Given the description of an element on the screen output the (x, y) to click on. 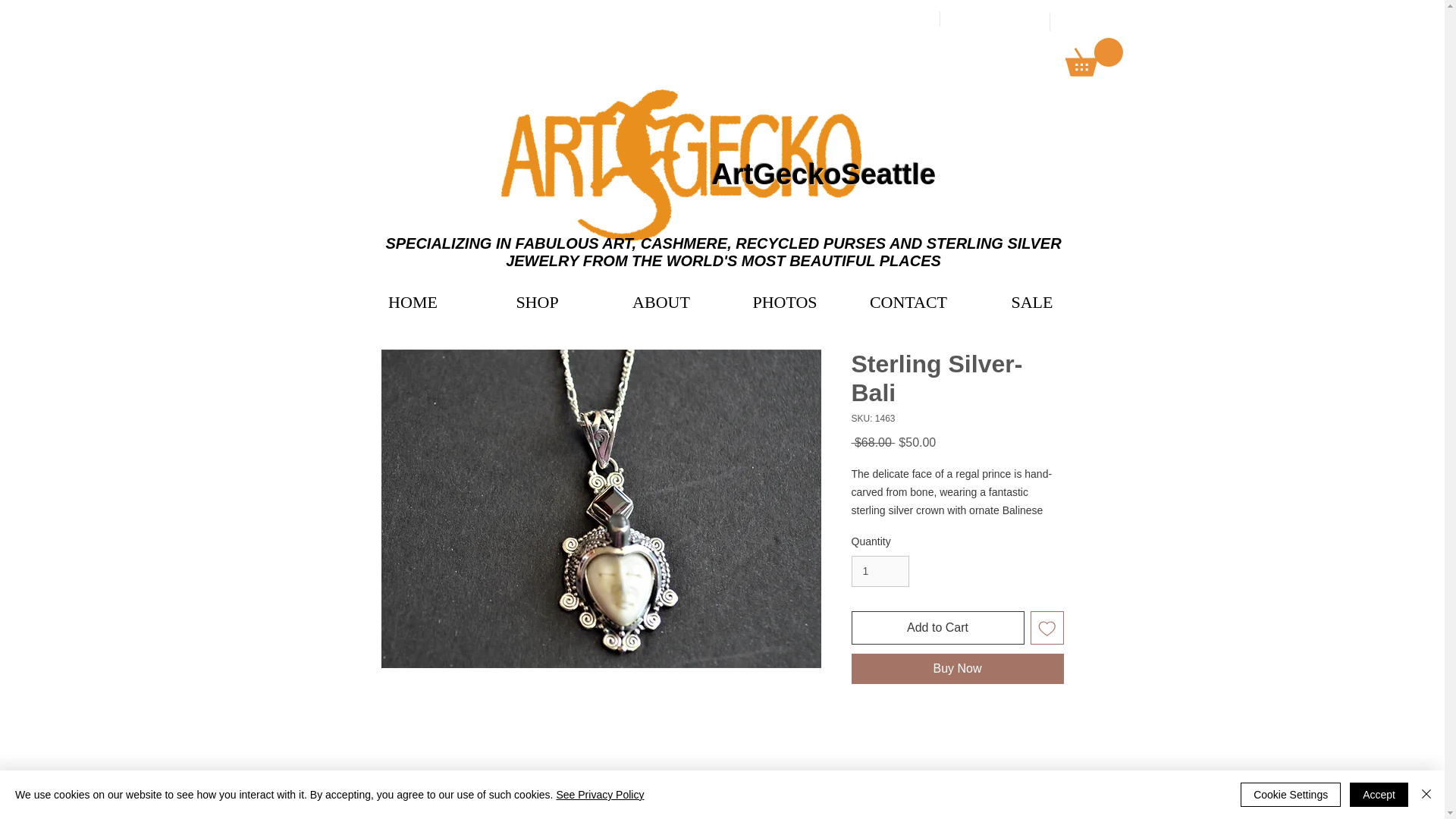
HOME (412, 302)
PHOTOS (785, 302)
SHOP (536, 302)
See Privacy Policy (599, 794)
CONTACT (907, 302)
ABOUT (660, 302)
Add to Cart (936, 627)
1 (879, 571)
Cookie Settings (1290, 794)
Accept (1378, 794)
